Given the description of an element on the screen output the (x, y) to click on. 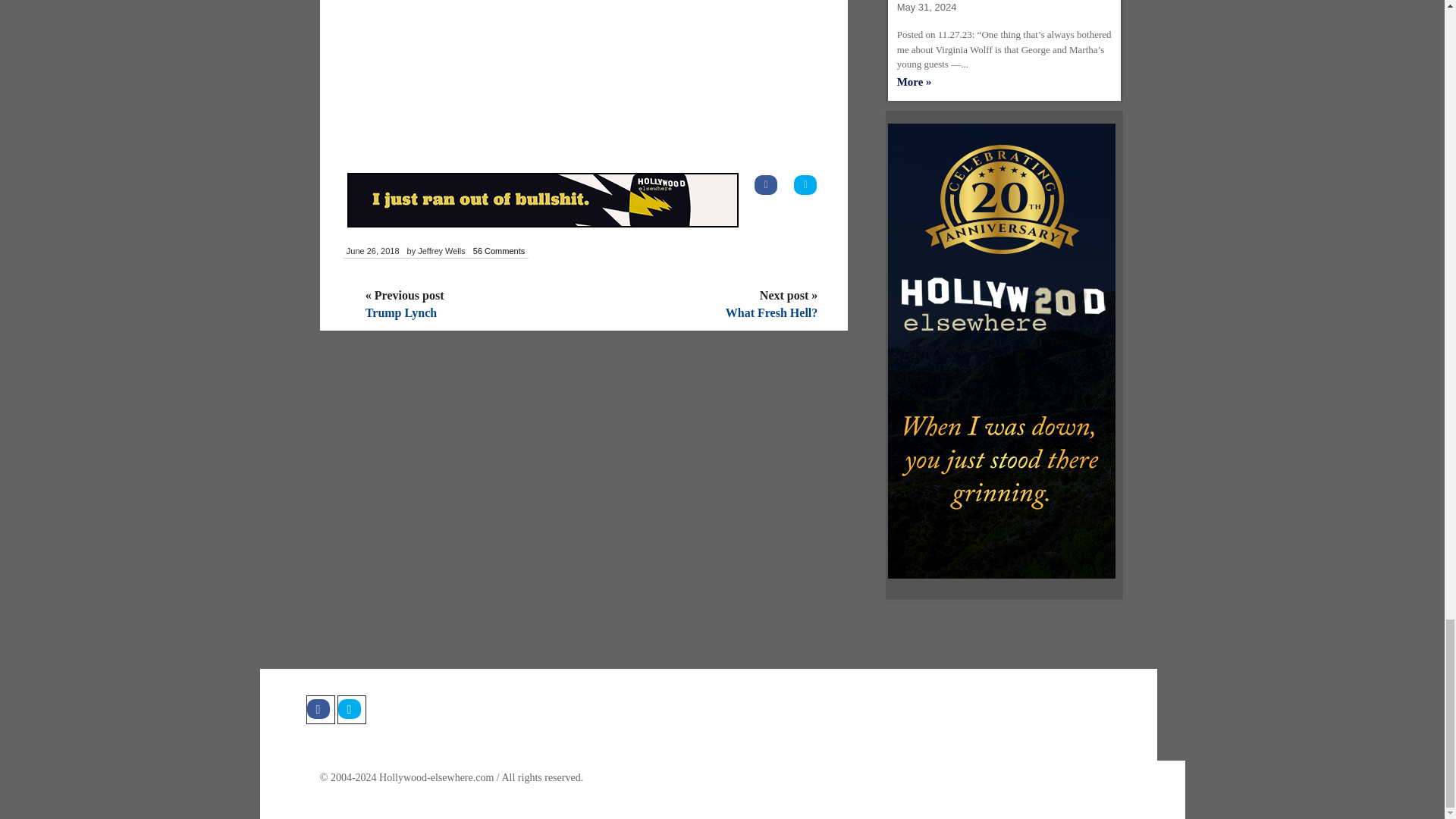
June 26, 2018 (372, 251)
Twitter (350, 709)
Facebook (319, 709)
56 Comments (498, 251)
by Jeffrey Wells (435, 251)
